Given the description of an element on the screen output the (x, y) to click on. 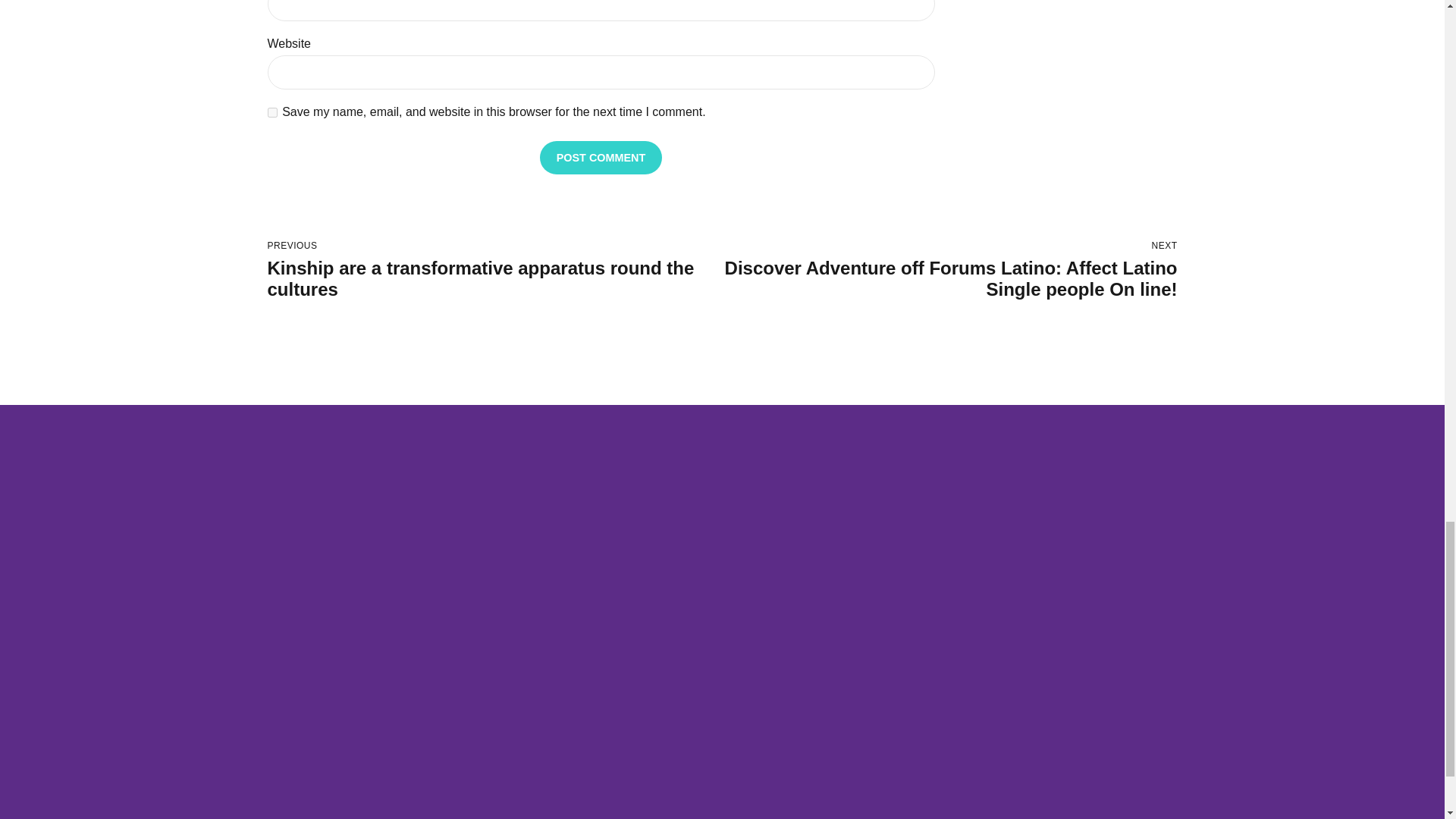
yes (271, 112)
POST COMMENT (601, 156)
